Given the description of an element on the screen output the (x, y) to click on. 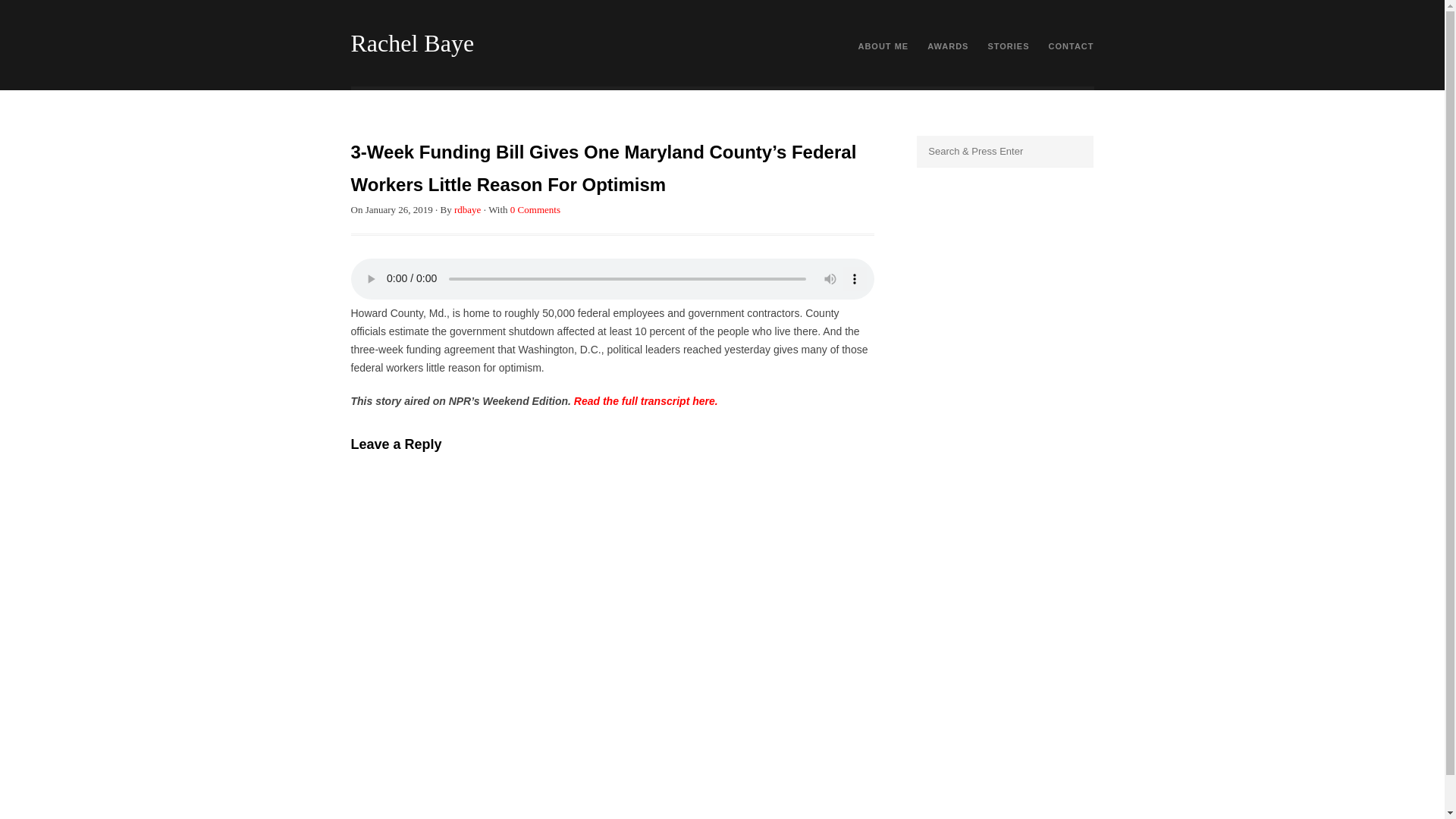
Rachel Baye (412, 42)
rdbaye (467, 209)
Rachel Baye (412, 42)
STORIES (1008, 48)
Posts by rdbaye (467, 209)
ABOUT ME (882, 48)
AWARDS (947, 48)
0 Comments (535, 209)
Read the full transcript here. (645, 400)
CONTACT (1071, 48)
